Given the description of an element on the screen output the (x, y) to click on. 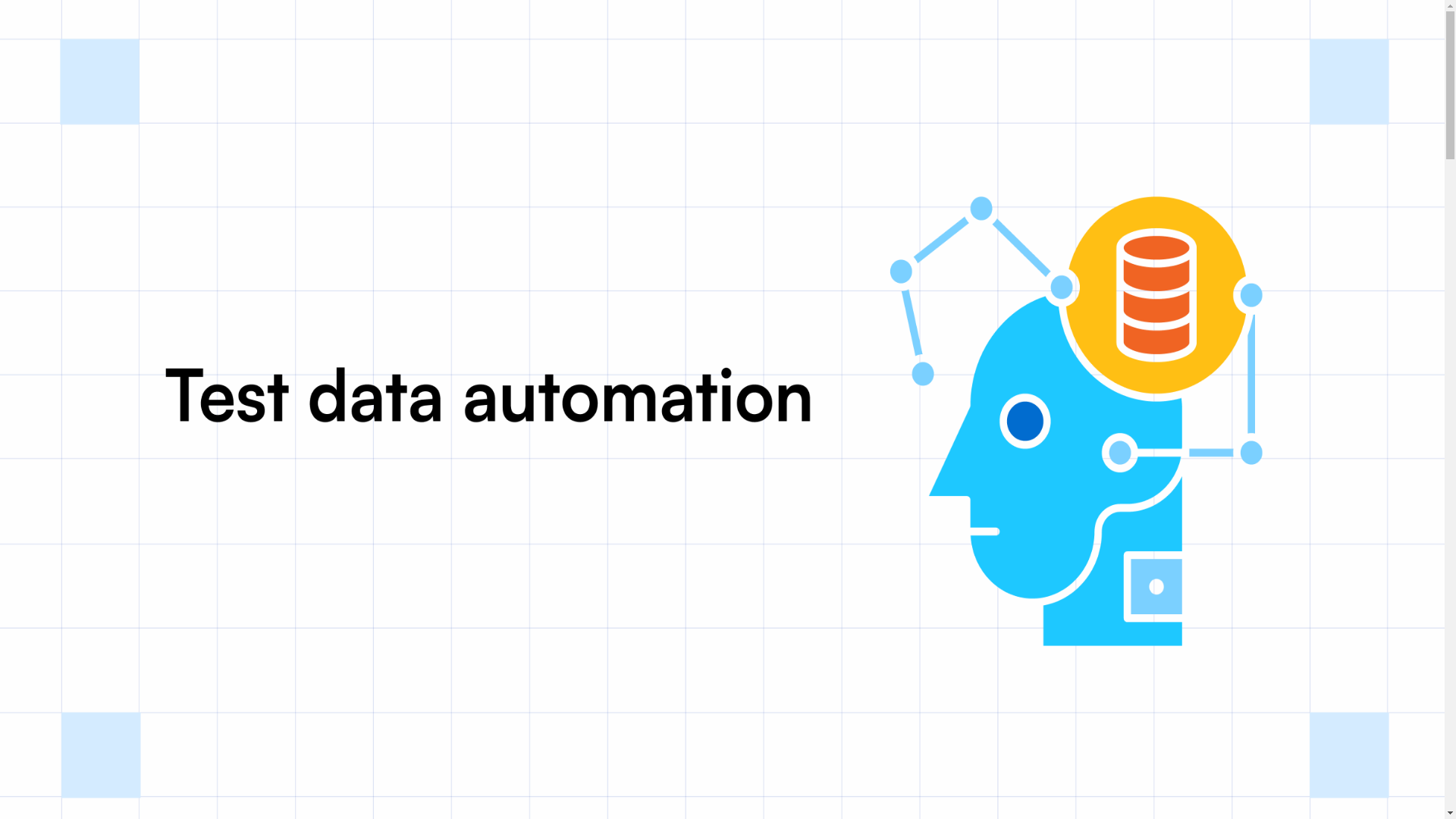
7 Tools for Test Data Automation (117, 543)
2 Why Test Data Automation? (109, 406)
Testsigma Engineering Team (144, 197)
3.2 Data Provisioning (119, 447)
9 Wrapping Up! (75, 570)
AUTOMATION TESTING (72, 80)
Try for free (33, 276)
1 What is Test Data Automation? (116, 392)
6 Key Technology Challenges of Test Data Automation (170, 529)
3 Test Data Automation Drivers (113, 420)
10.2 What are the benefits of test data automation? (189, 611)
4 When to Perform Test Data Automation? (140, 461)
5 Steps to Automate Test Data (109, 474)
5.3 Step 3: Provision (117, 515)
